Given the description of an element on the screen output the (x, y) to click on. 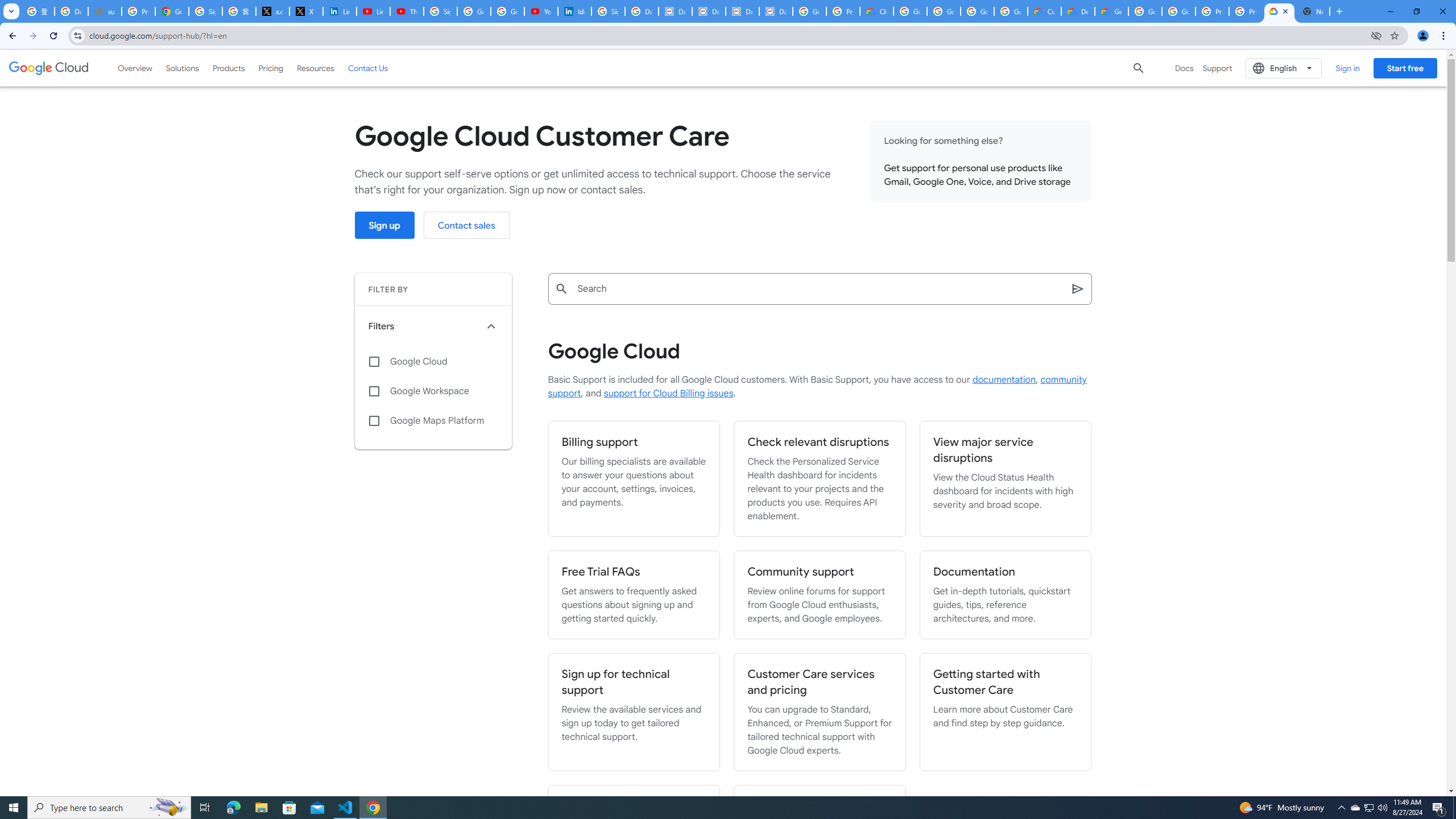
Sign in - Google Accounts (608, 11)
Gemini for Business and Developers | Google Cloud (1111, 11)
LinkedIn - YouTube (372, 11)
X (305, 11)
community support (816, 386)
Contact sales (466, 225)
Sign up (383, 225)
Data Privacy Framework (708, 11)
Filters keyboard_arrow_up (432, 326)
Google Workspace - Specific Terms (1010, 11)
Search (819, 288)
Docs (1183, 67)
